Given the description of an element on the screen output the (x, y) to click on. 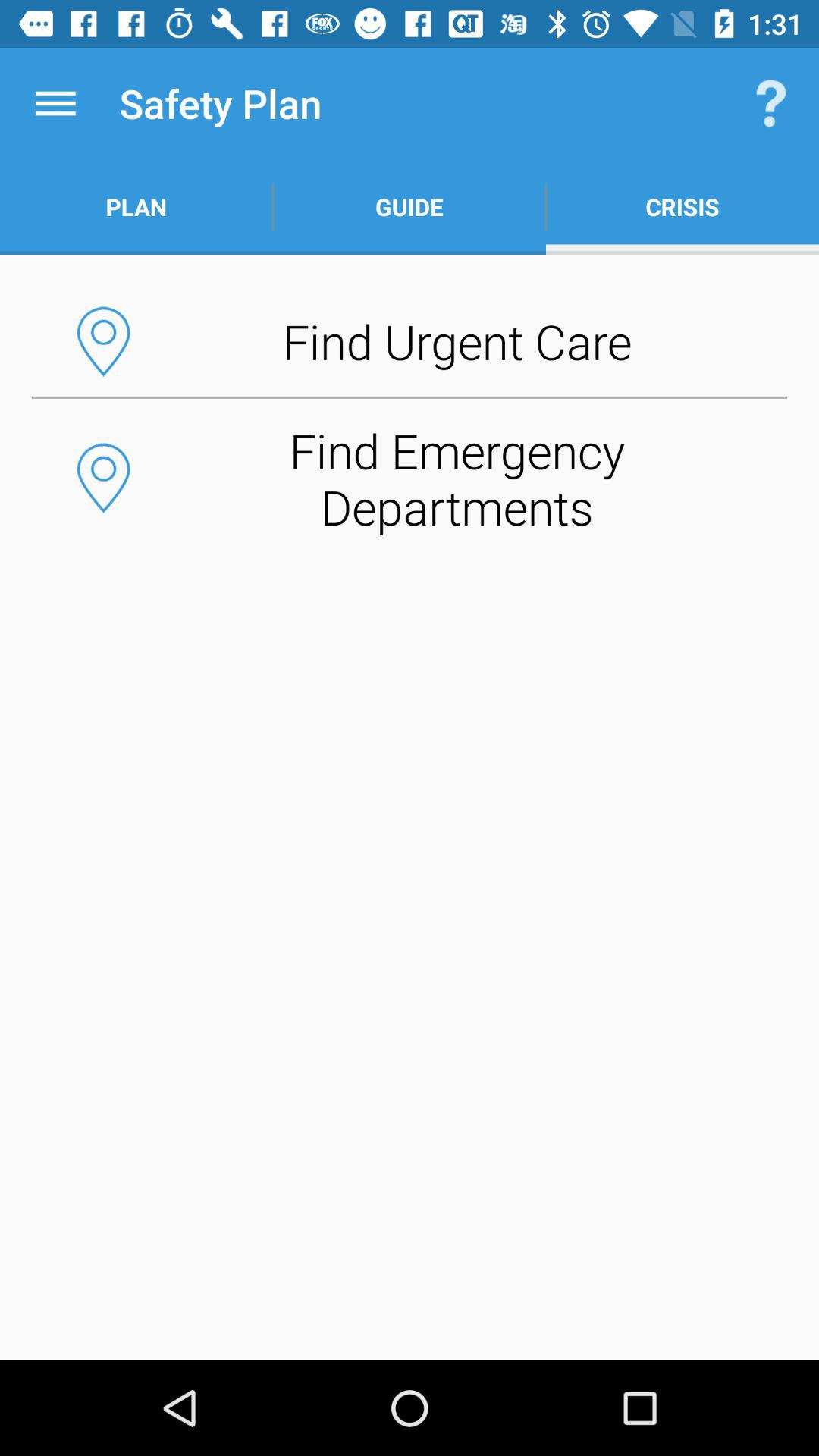
launch the app to the left of the crisis item (409, 206)
